Given the description of an element on the screen output the (x, y) to click on. 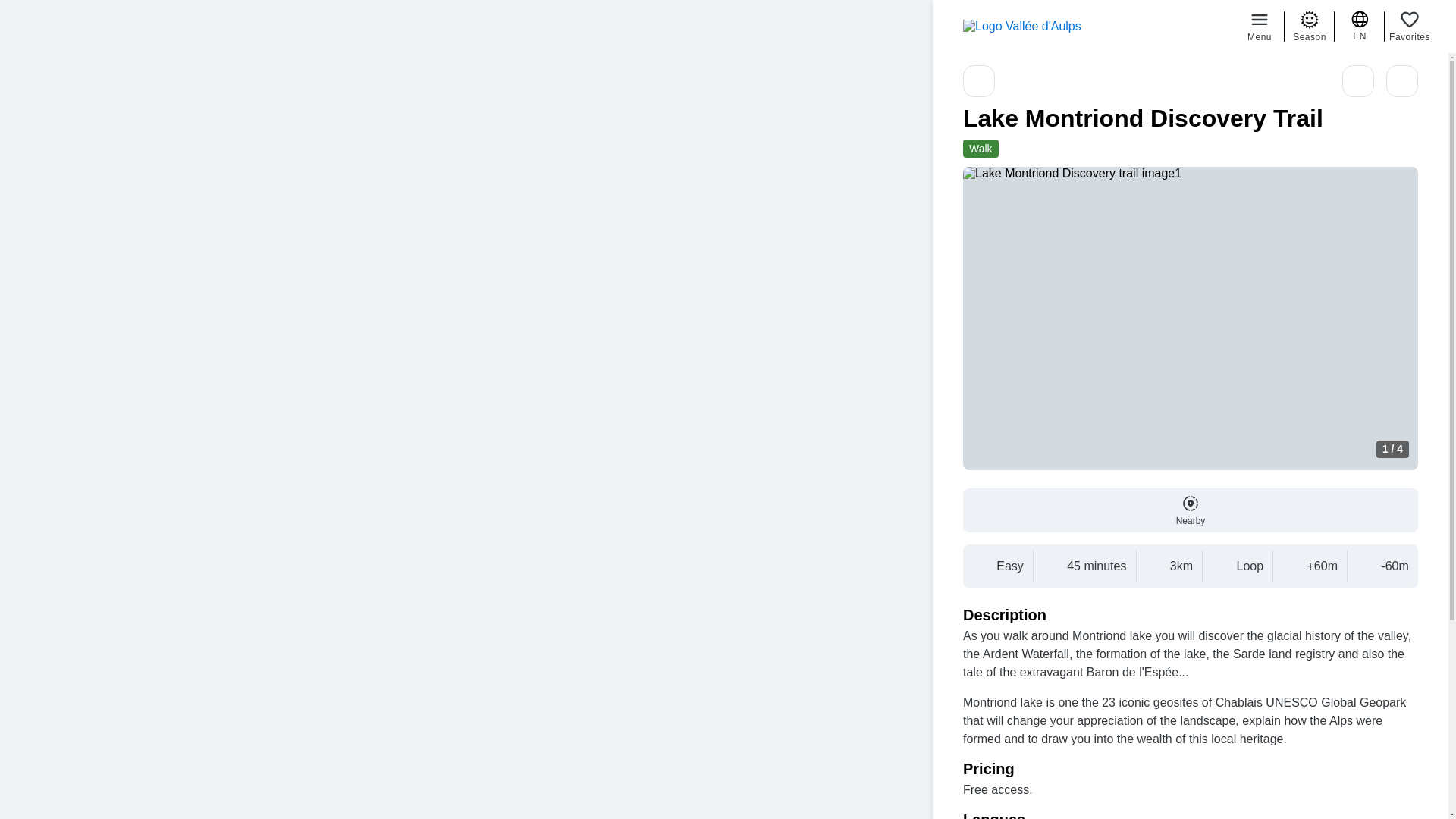
EN (1359, 26)
Menu (1259, 26)
Walk (980, 148)
Season (1309, 26)
Nearby (1190, 510)
Favorites (1409, 26)
